Given the description of an element on the screen output the (x, y) to click on. 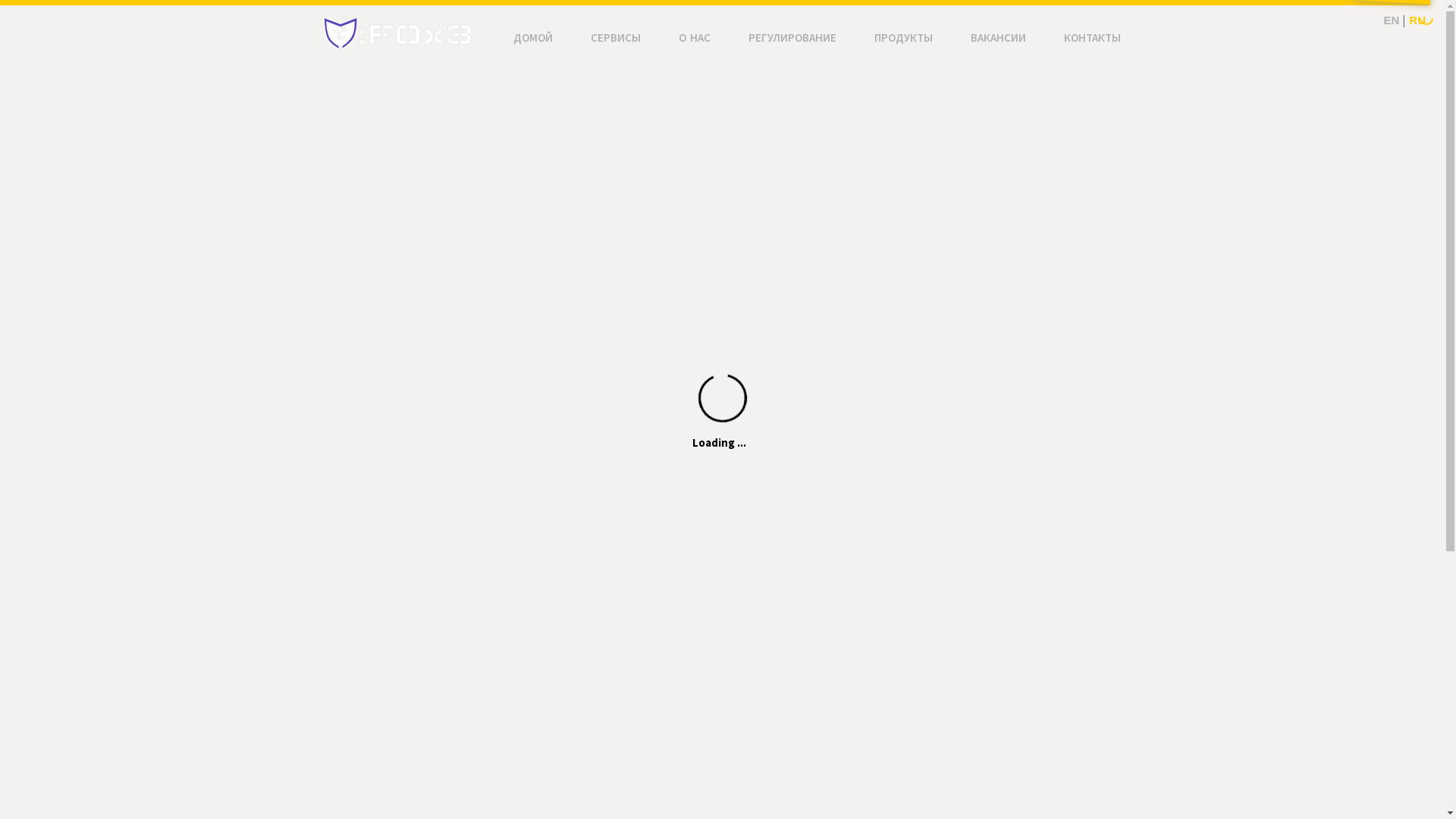
EN Element type: text (1391, 19)
RU Element type: text (1416, 19)
